Given the description of an element on the screen output the (x, y) to click on. 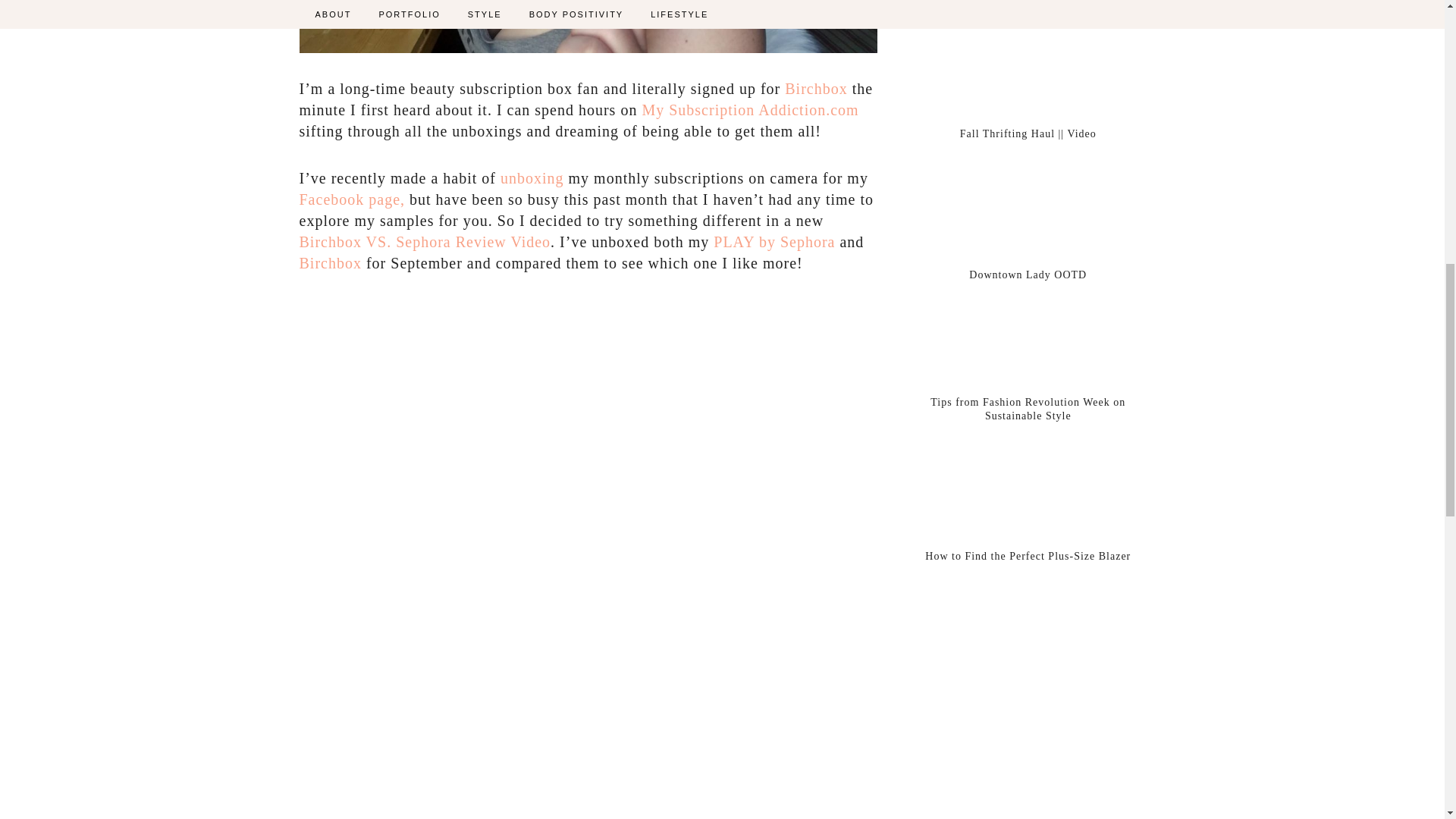
Birchbox VS. Sephora Review Video (424, 241)
My Subscription Addiction.com (750, 109)
Birchbox (329, 262)
PLAY by Sephora (773, 241)
unboxing (532, 177)
Birchbox (815, 88)
Facebook page, (351, 199)
